Given the description of an element on the screen output the (x, y) to click on. 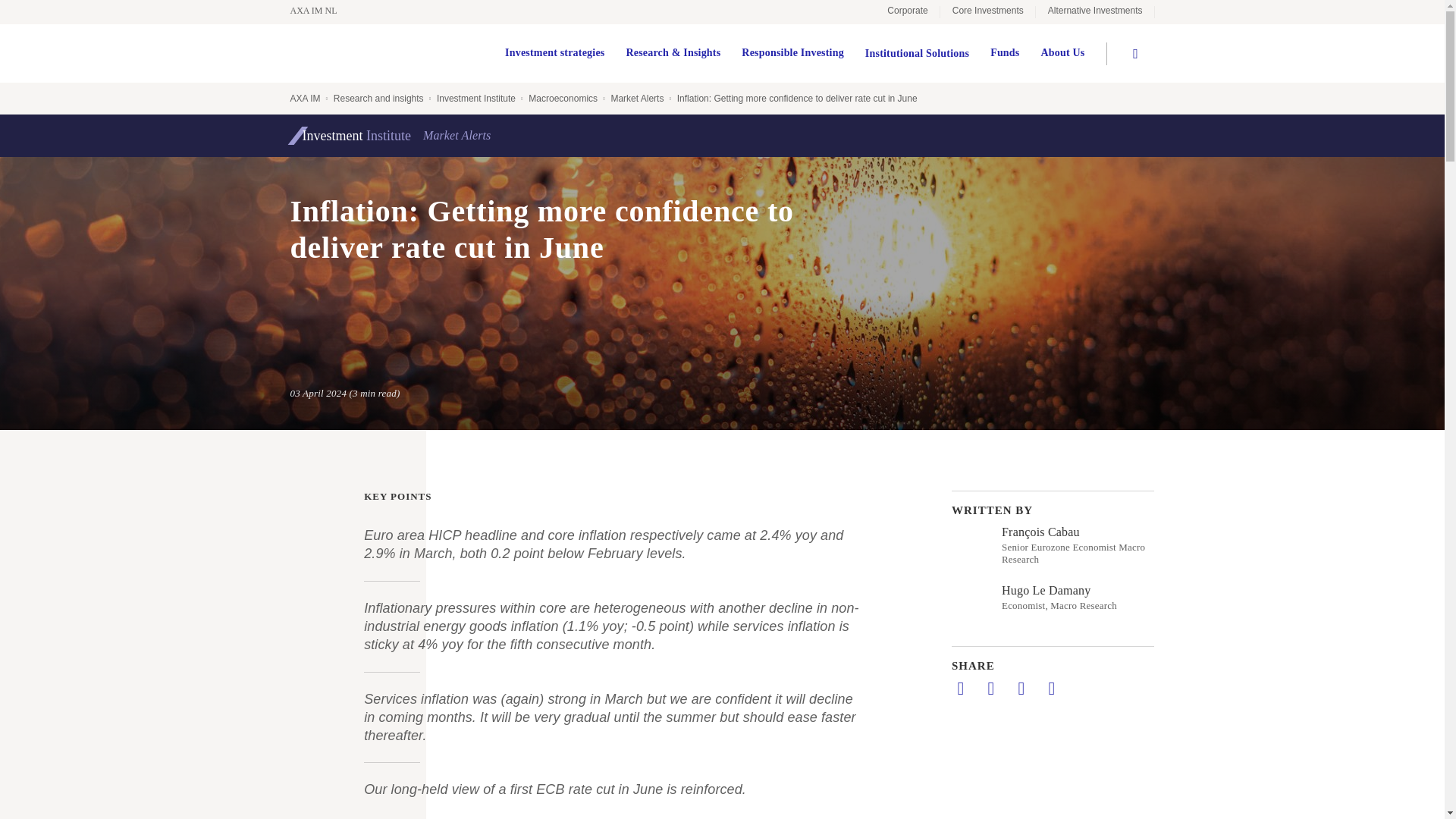
Corporate (907, 12)
Shared by mail (1020, 688)
Home (320, 10)
Alternative Investments (1094, 12)
Share on twitter (990, 688)
Investment strategies (554, 53)
Copy URL (1051, 688)
Responsible Investing (792, 53)
Share on LinkedIn (960, 688)
Institutional Solutions (916, 53)
AXA IM NL (320, 10)
Core Investments (987, 12)
